Given the description of an element on the screen output the (x, y) to click on. 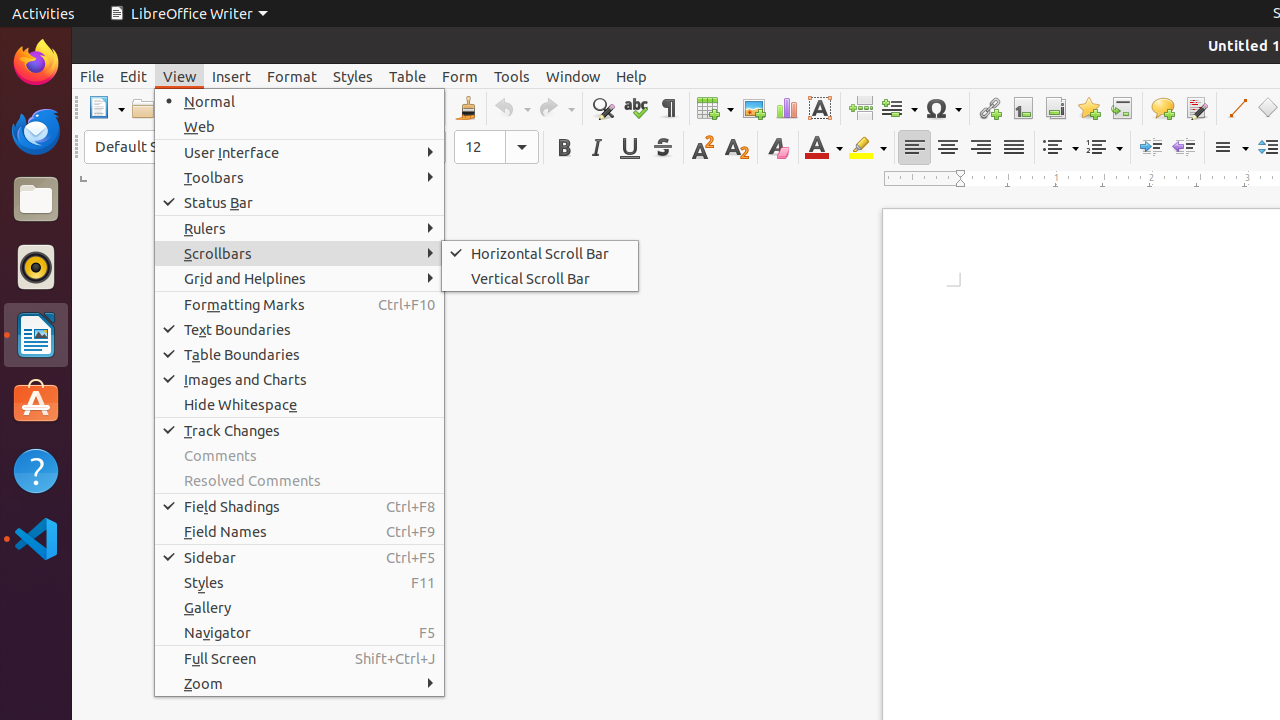
Web Element type: radio-menu-item (299, 126)
Field Shadings Element type: check-menu-item (299, 506)
Font Color Element type: push-button (824, 147)
Visual Studio Code Element type: push-button (36, 538)
Clone Element type: push-button (465, 108)
